Given the description of an element on the screen output the (x, y) to click on. 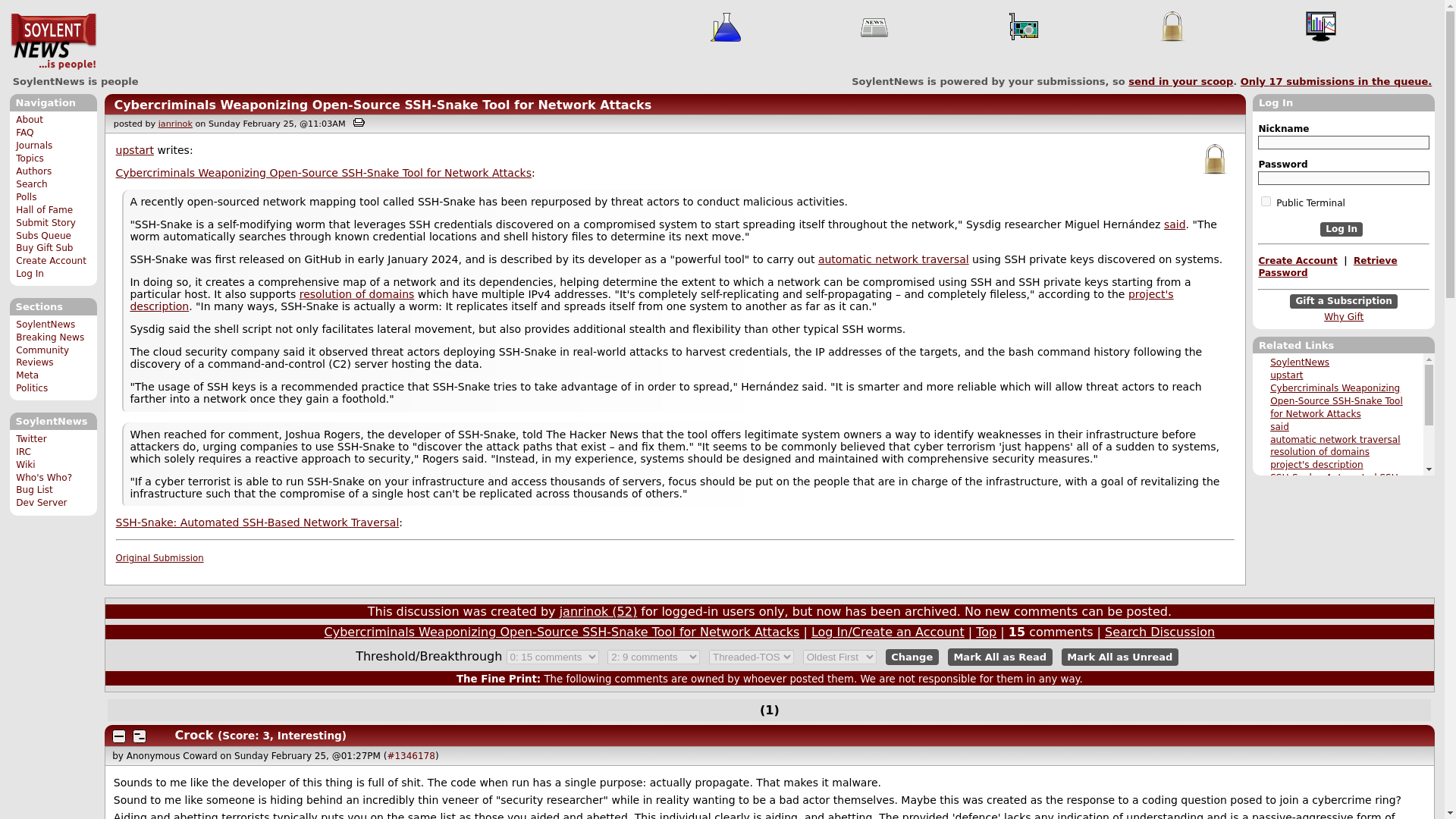
Submit Story (45, 222)
Hardware (1024, 26)
Topics (29, 158)
Log In (29, 273)
Community Reviews (42, 356)
Security (1214, 159)
SoylentNews (45, 324)
Create Account (50, 260)
Breaking News (50, 337)
Change (912, 656)
Buy Gift Sub (44, 247)
FAQ (24, 132)
Subs Queue (43, 235)
Science (725, 26)
Only 17 submissions in the queue. (1336, 81)
